Given the description of an element on the screen output the (x, y) to click on. 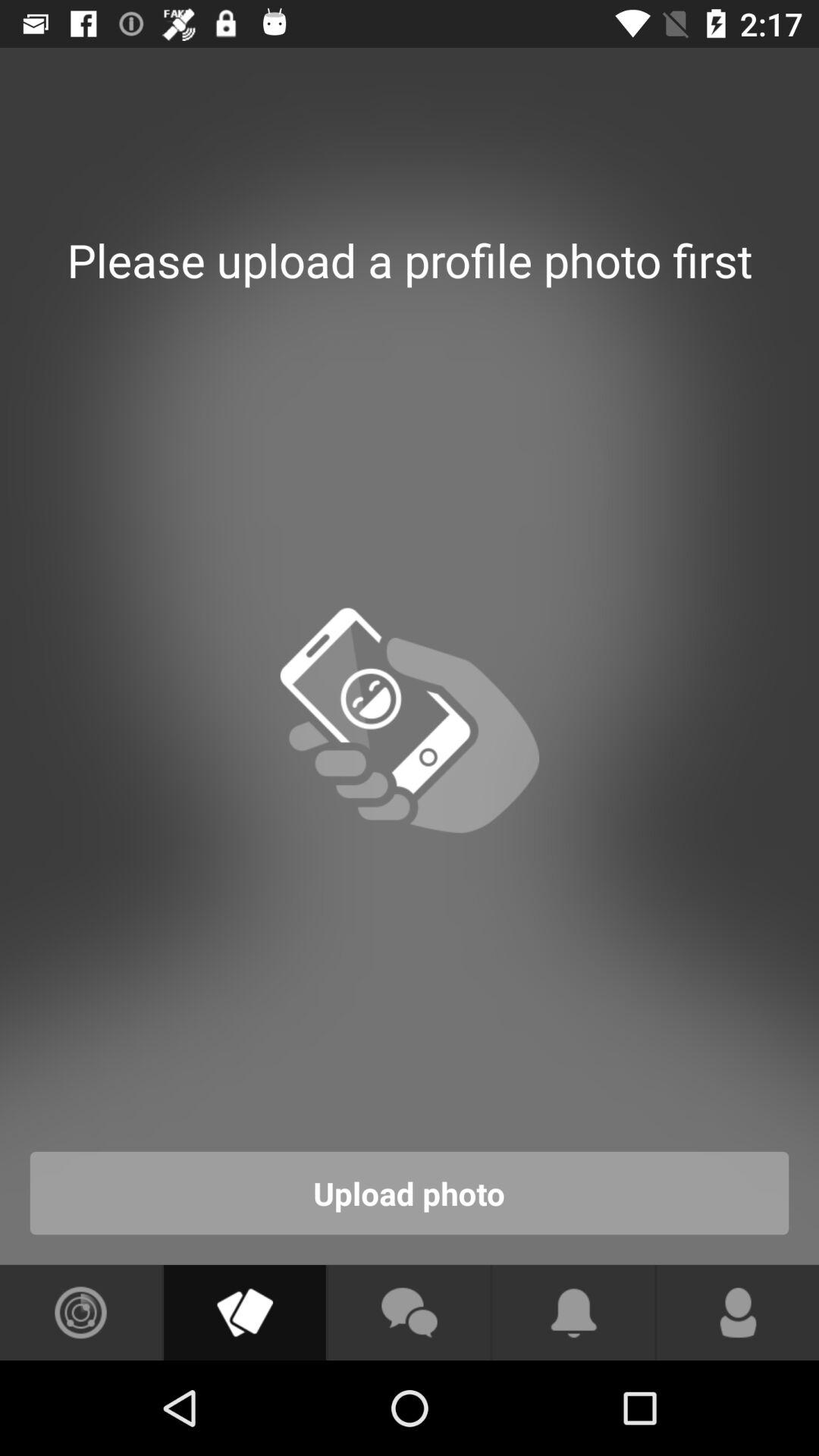
sound icon (80, 1312)
